Given the description of an element on the screen output the (x, y) to click on. 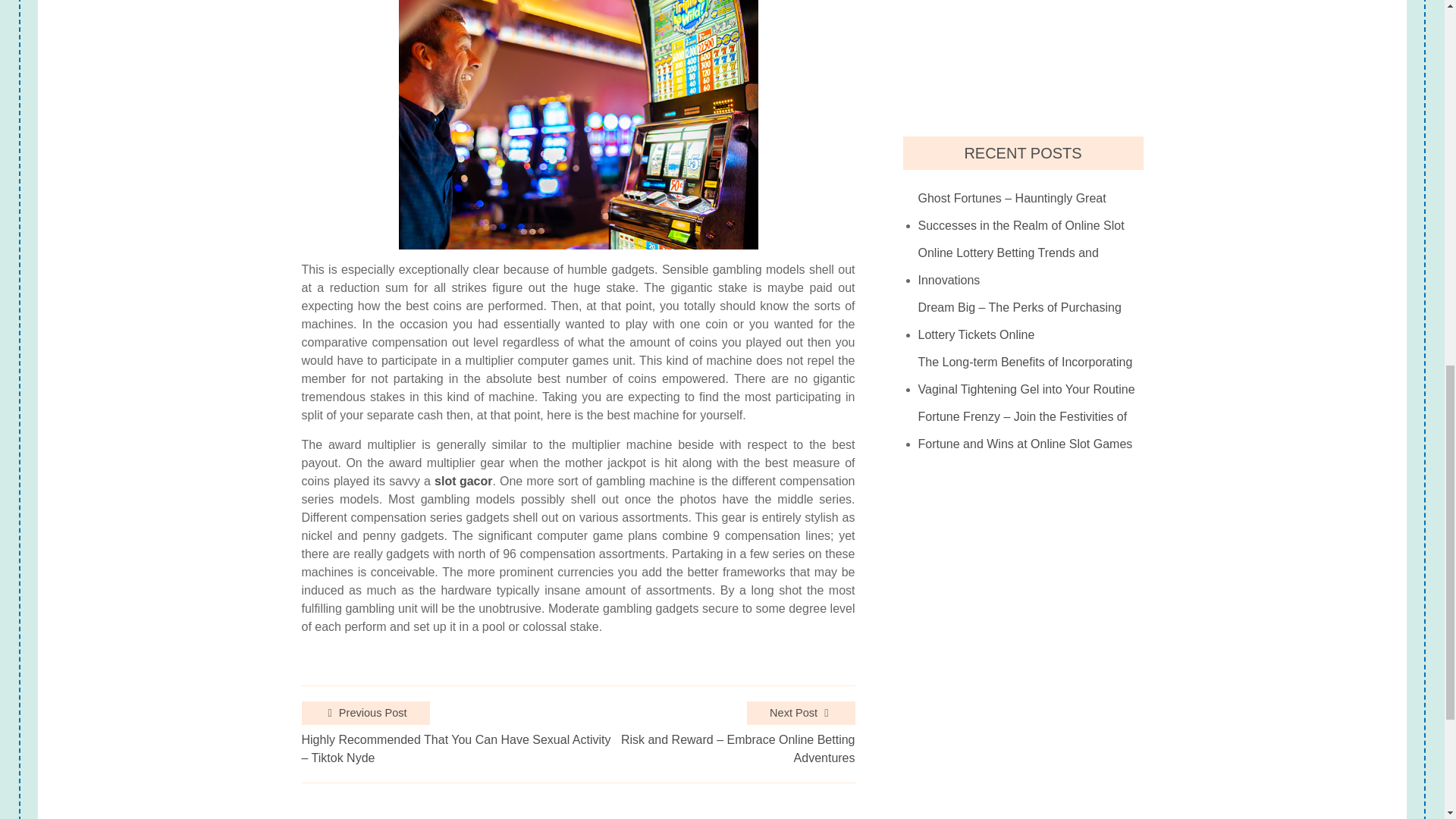
Previous Post (365, 713)
Online Lottery Betting Trends and Innovations (1030, 266)
slot gacor (462, 481)
Next Post (800, 713)
